Given the description of an element on the screen output the (x, y) to click on. 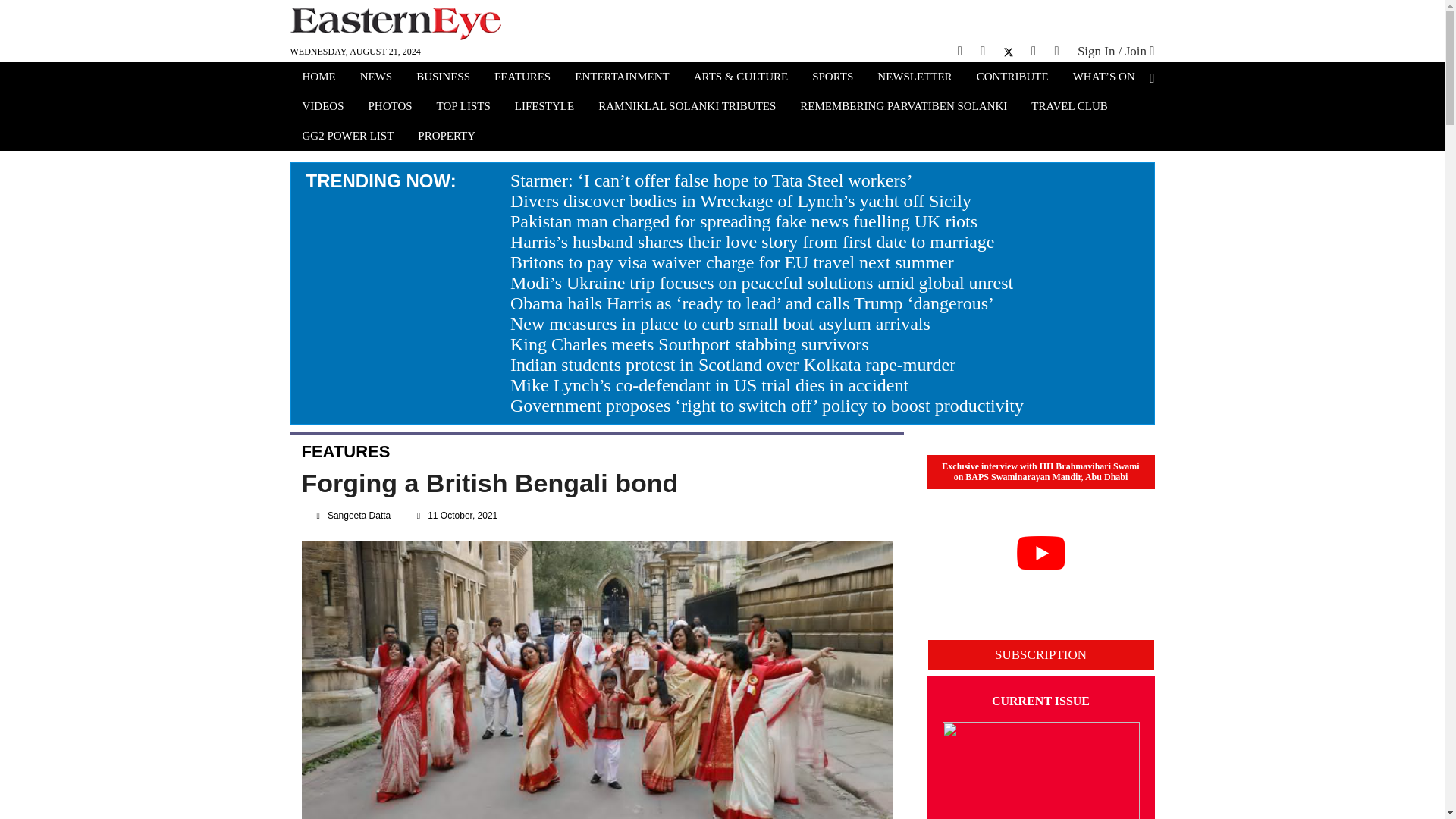
ENTERTAINMENT (622, 78)
CONTRIBUTE (1012, 78)
RAMNIKLAL SOLANKI TRIBUTES (686, 108)
VIDEOS (322, 108)
NEWSLETTER (914, 78)
TRAVEL CLUB (1069, 108)
New measures in place to curb small boat asylum arrivals (720, 323)
GG2 POWER LIST (346, 137)
TOP LISTS (463, 108)
